Given the description of an element on the screen output the (x, y) to click on. 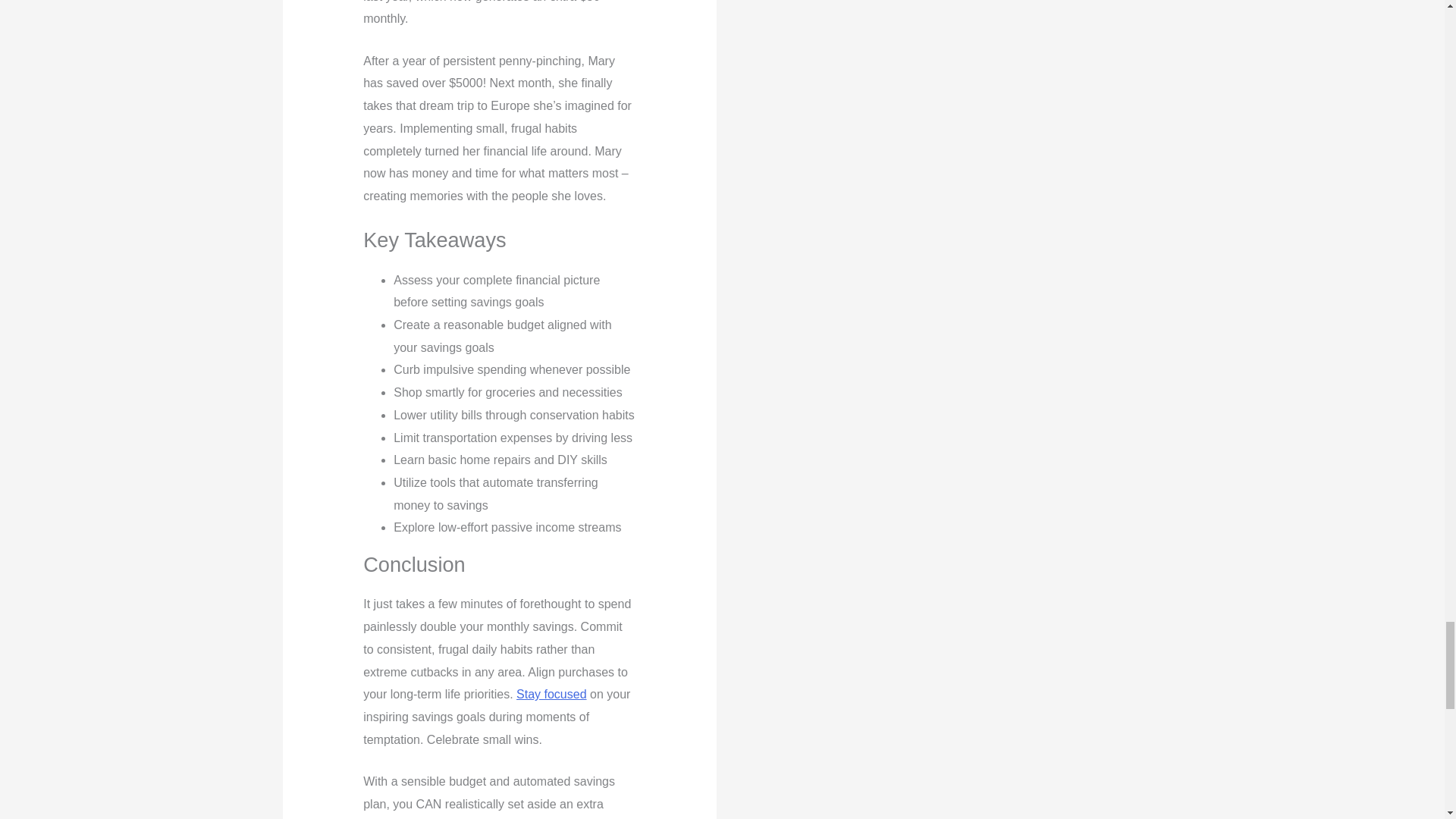
Stay focused (551, 694)
